Given the description of an element on the screen output the (x, y) to click on. 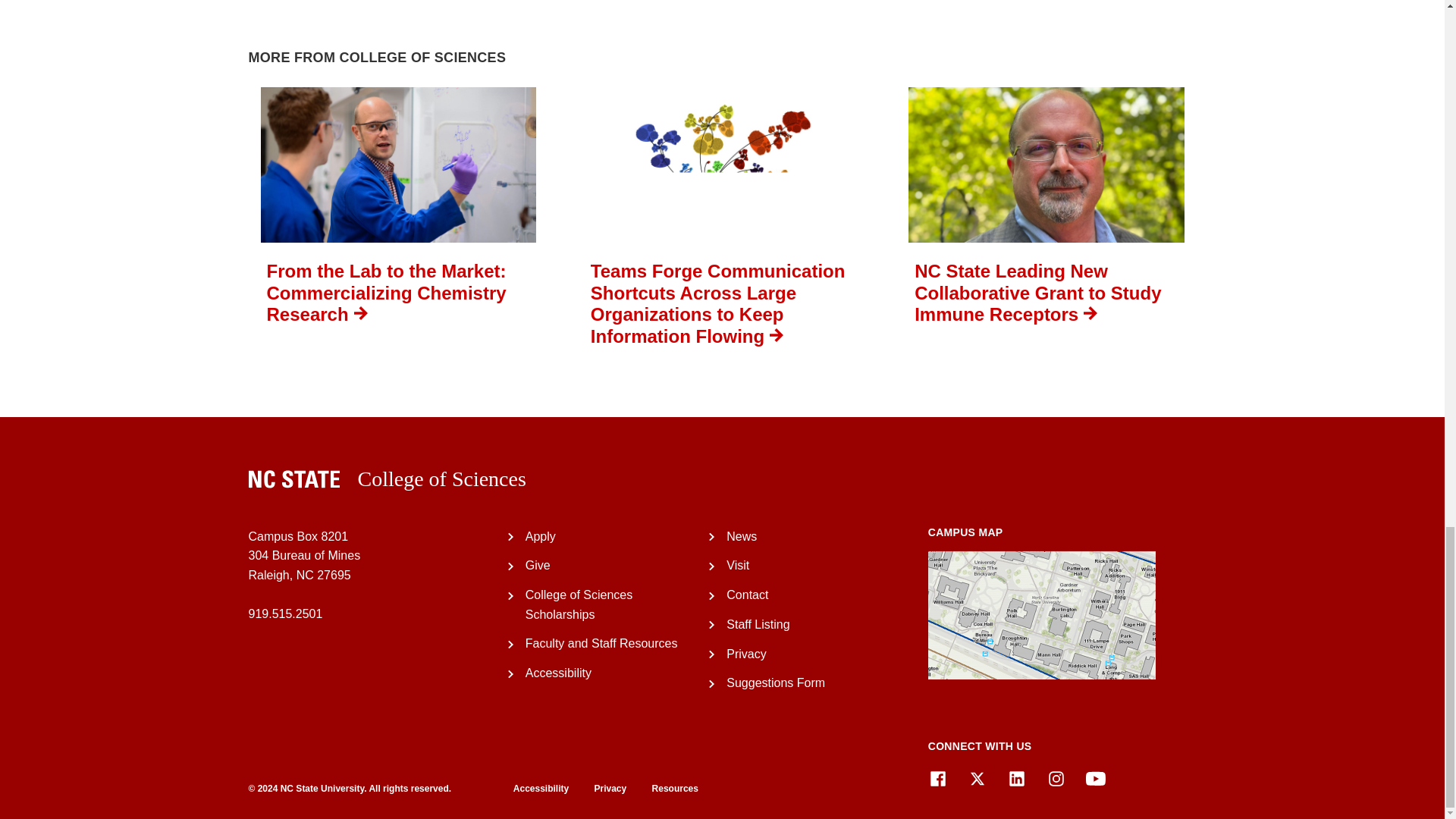
X (977, 778)
Facebook (937, 778)
Instagram (1055, 778)
LinkedIn (1016, 778)
YouTube (1095, 778)
